Given the description of an element on the screen output the (x, y) to click on. 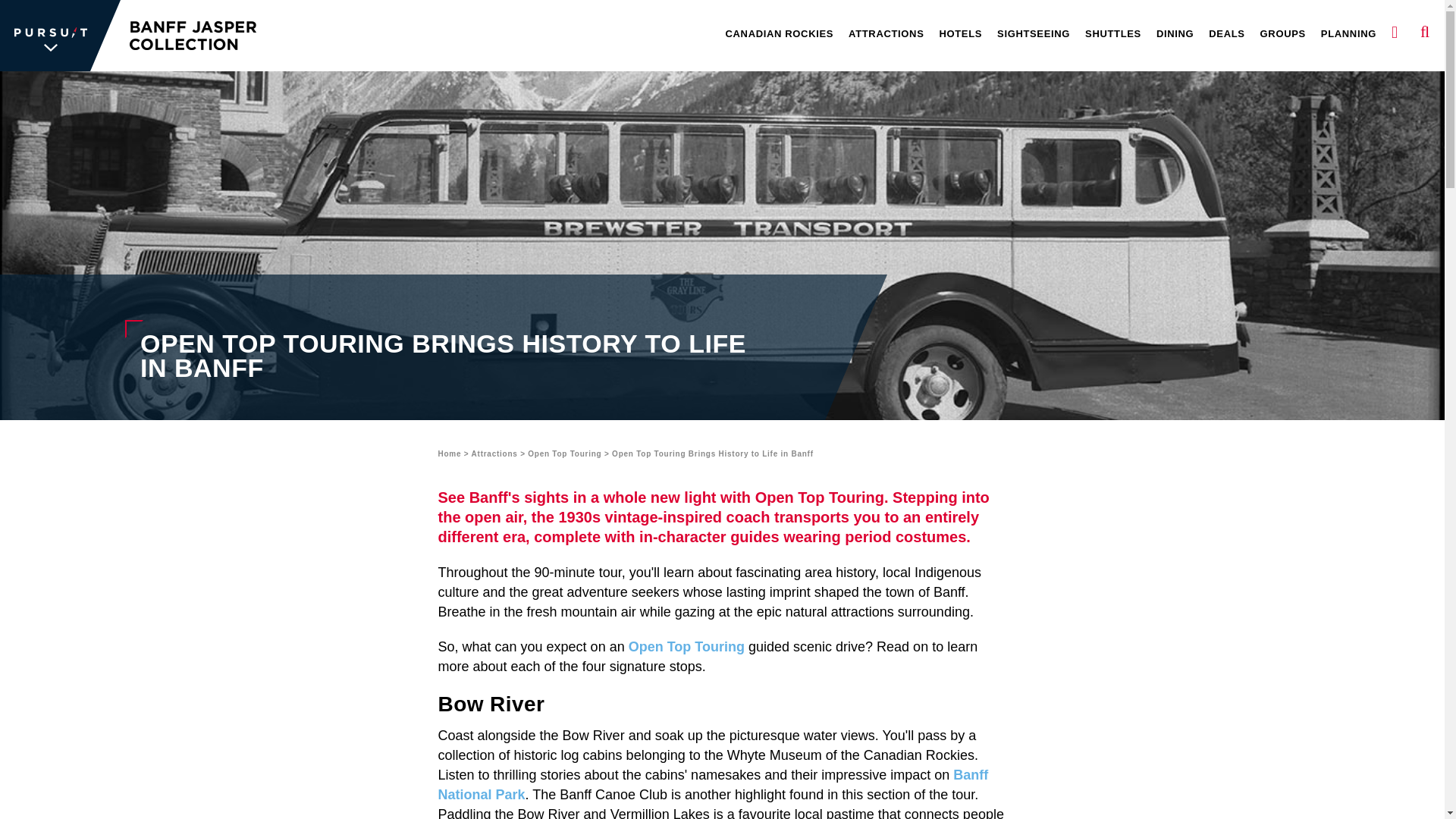
ATTRACTIONS (886, 35)
CANADIAN ROCKIES (779, 35)
Logo (60, 35)
